Given the description of an element on the screen output the (x, y) to click on. 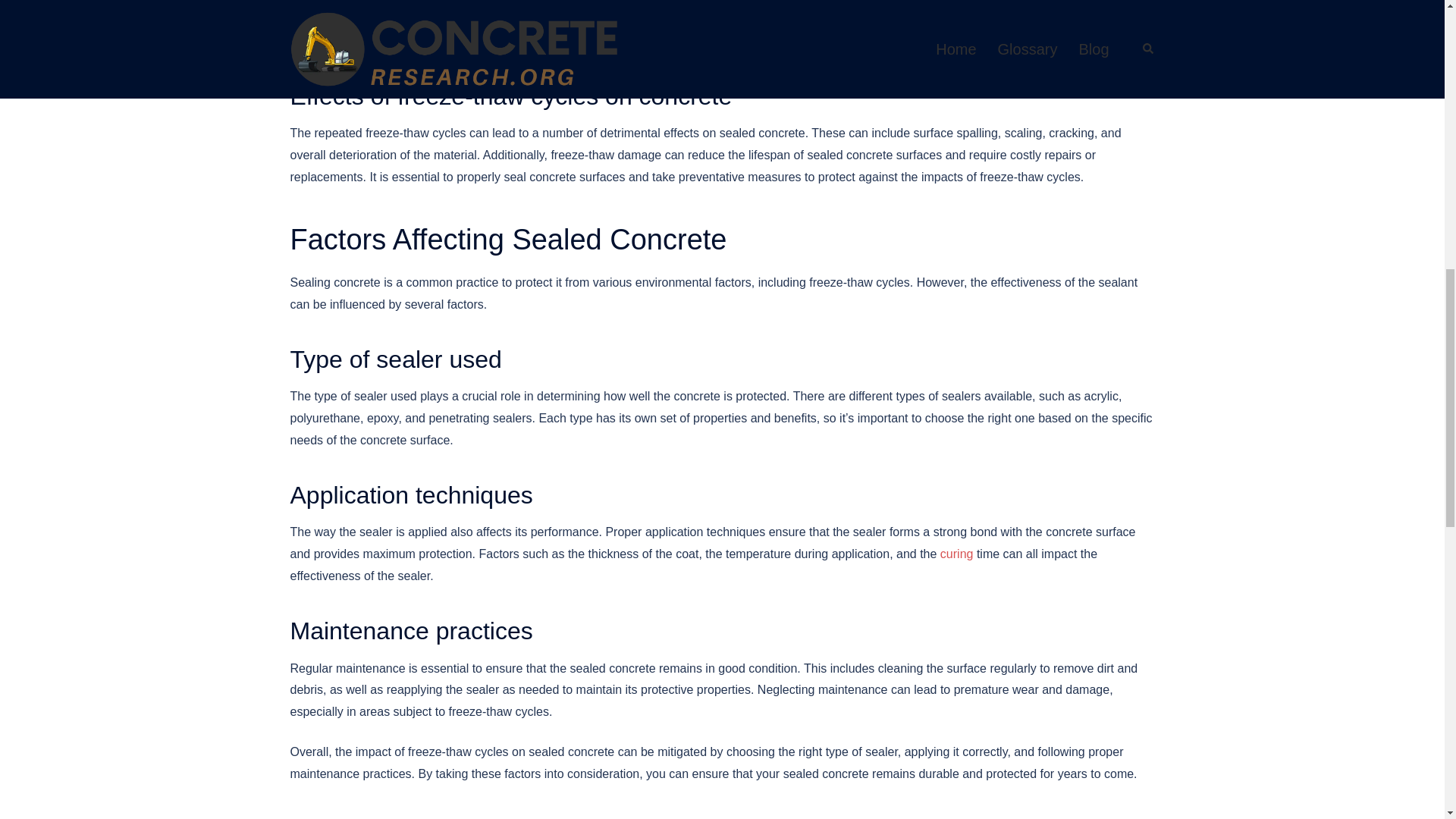
curing (957, 553)
structural integrity (337, 41)
structural integrity (337, 41)
curing (957, 553)
